Given the description of an element on the screen output the (x, y) to click on. 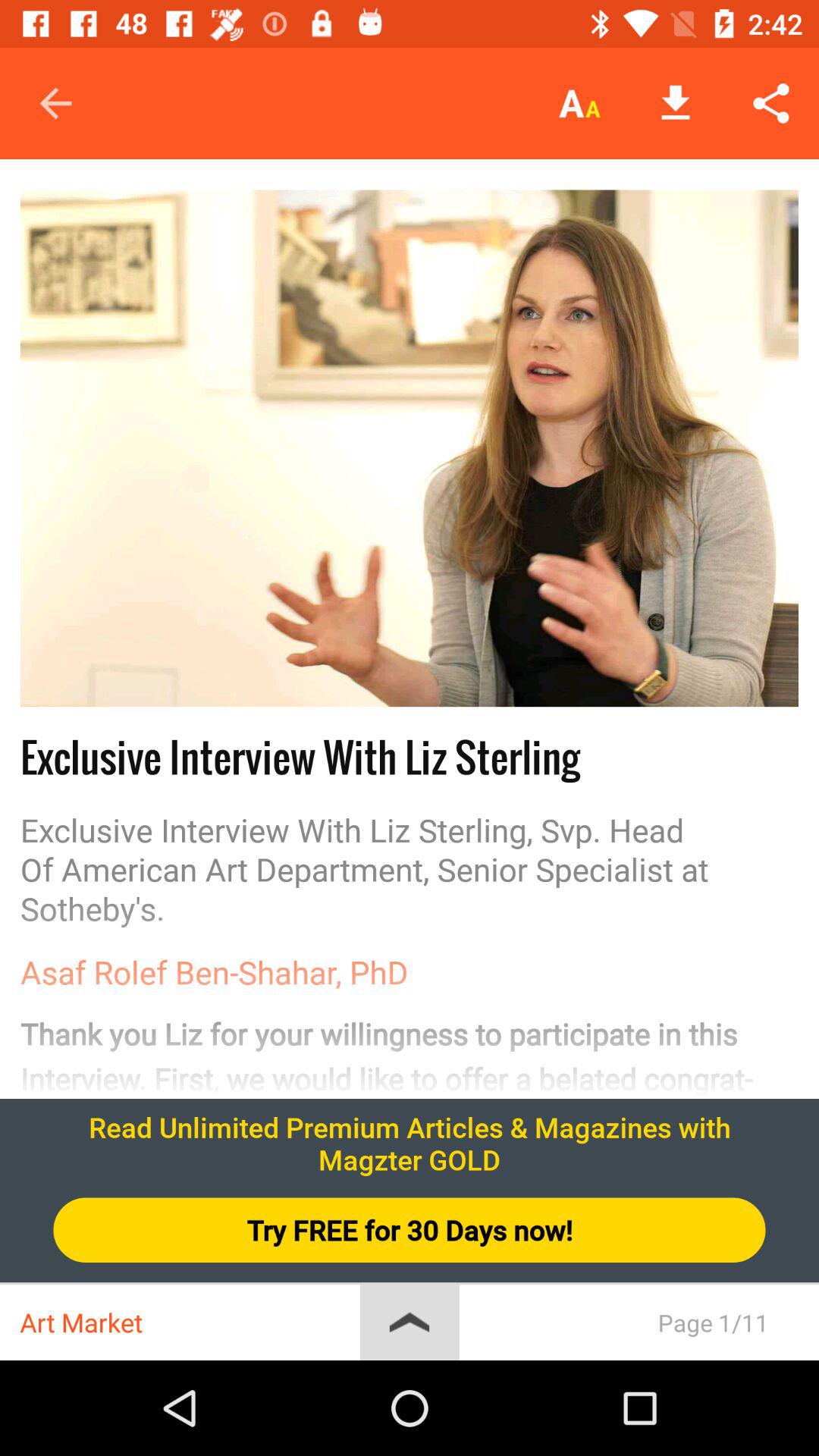
launch try free for item (409, 1229)
